Given the description of an element on the screen output the (x, y) to click on. 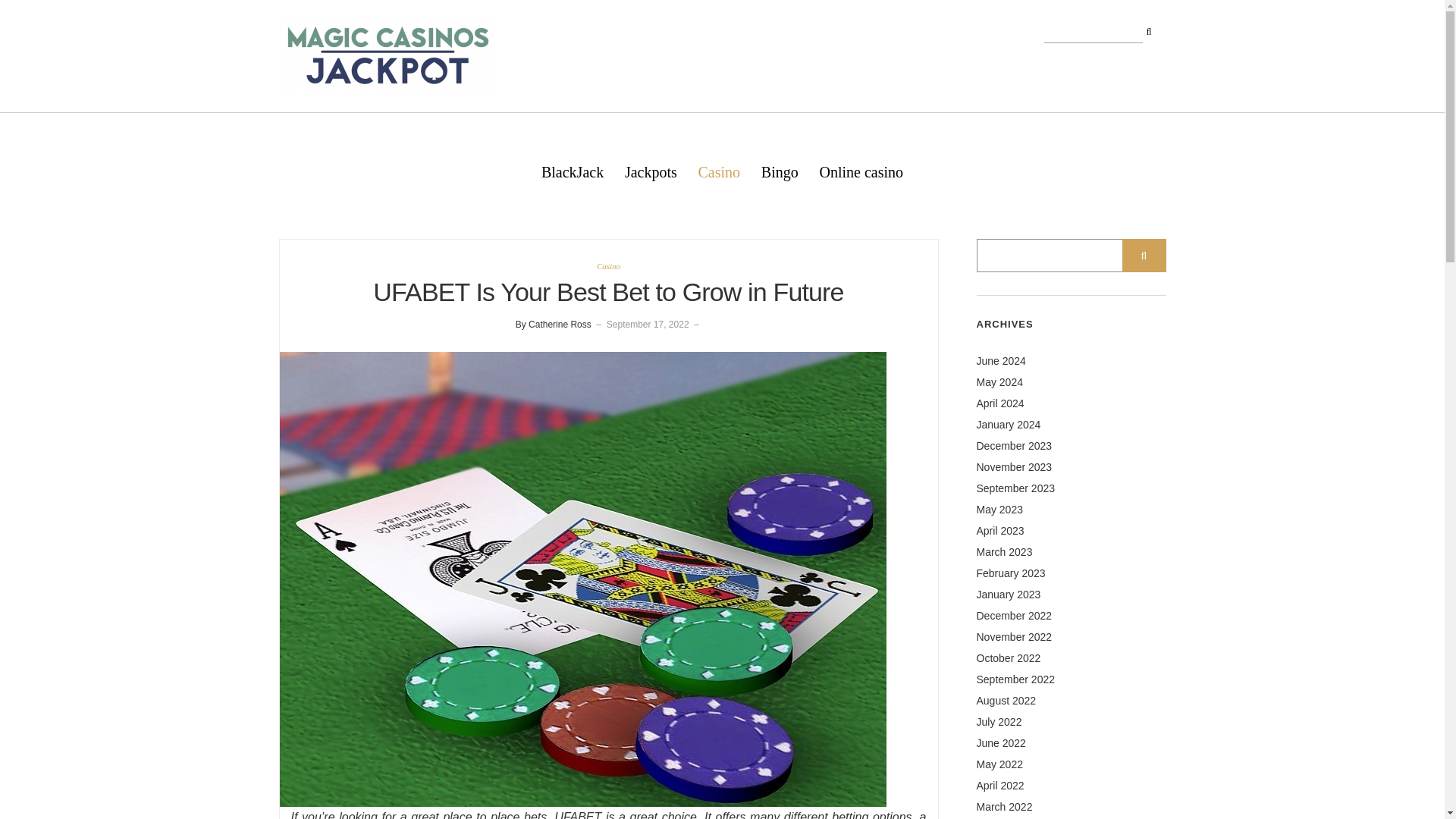
November 2023 (1014, 467)
Casino (608, 266)
September 2022 (1015, 679)
April 2023 (1000, 530)
July 2022 (999, 721)
May 2022 (999, 764)
May 2023 (999, 509)
September 2023 (1015, 488)
March 2022 (1004, 806)
Online casino (860, 171)
June 2022 (1001, 743)
November 2022 (1014, 636)
BlackJack (572, 171)
June 2024 (1001, 360)
May 2024 (999, 381)
